Given the description of an element on the screen output the (x, y) to click on. 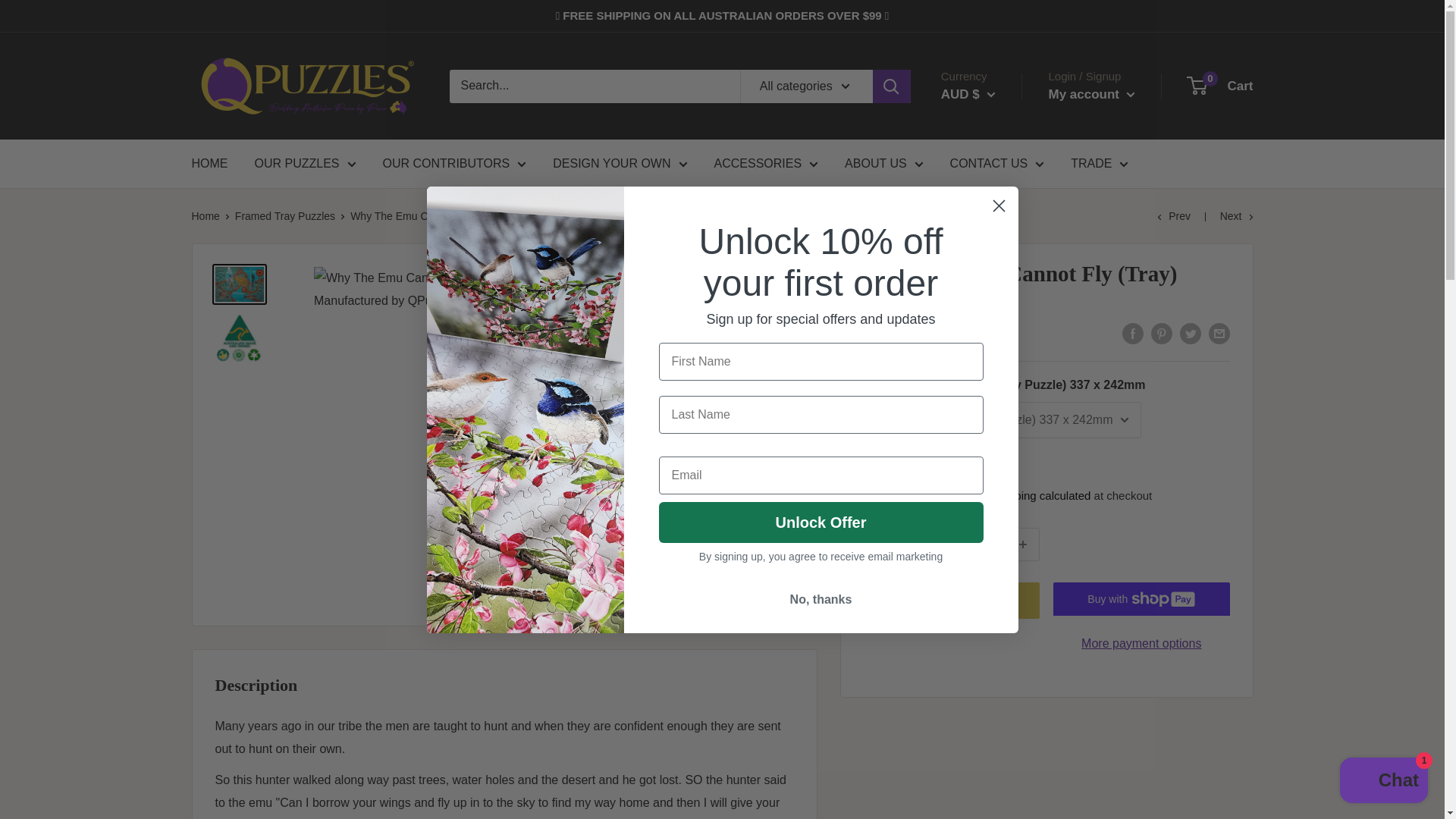
1 (982, 544)
Shopify online store chat (1383, 781)
Increase quantity by 1 (1023, 544)
Decrease quantity by 1 (942, 544)
